Given the description of an element on the screen output the (x, y) to click on. 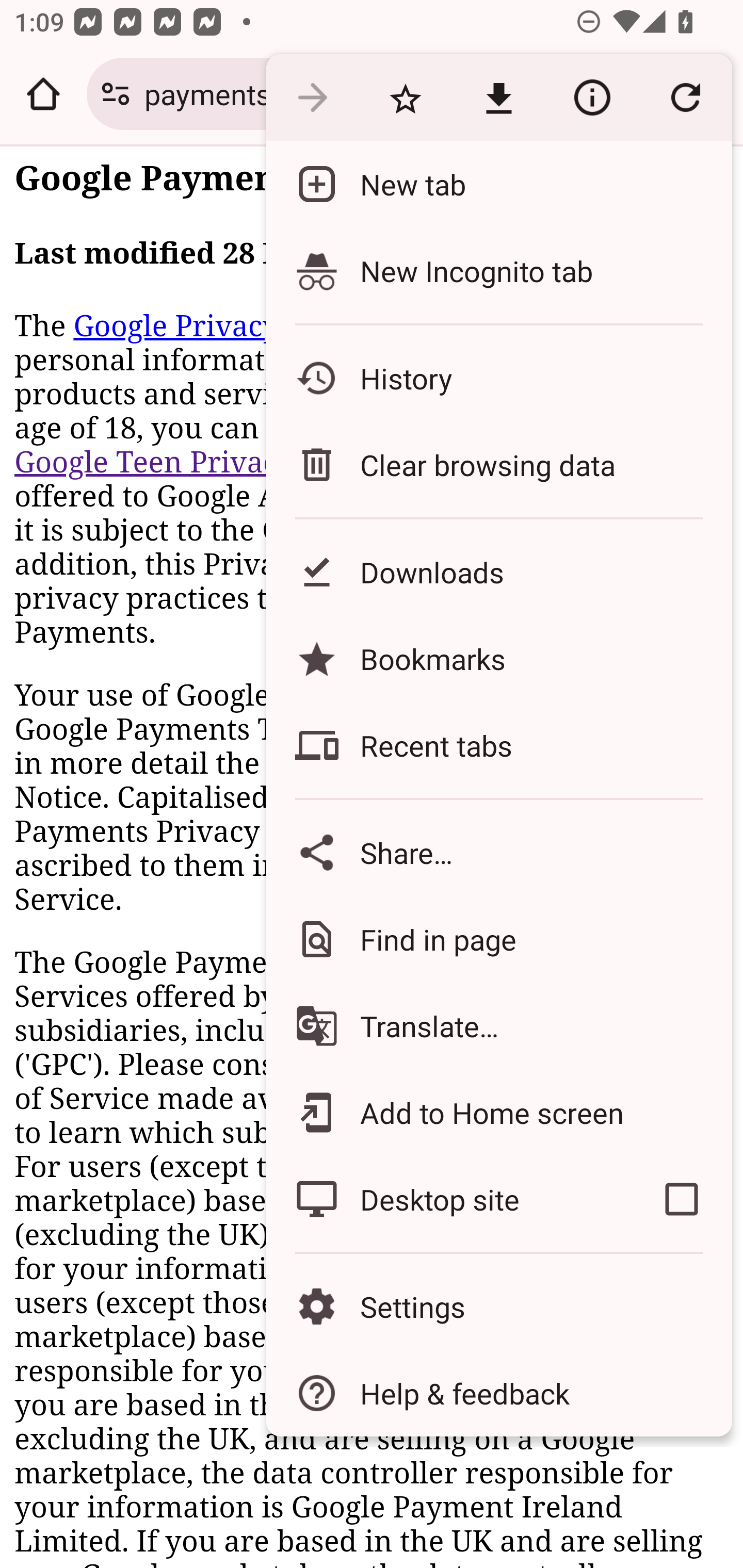
Forward (311, 97)
Bookmark (404, 97)
Download (498, 97)
Page info (591, 97)
Refresh (684, 97)
New tab (498, 184)
New Incognito tab (498, 270)
History (498, 377)
Clear browsing data (498, 464)
Downloads (498, 571)
Bookmarks (498, 658)
Recent tabs (498, 745)
Share… (498, 852)
Find in page (498, 939)
Translate… (498, 1026)
Add to Home screen (498, 1112)
Desktop site Turn on Request desktop site (447, 1198)
Settings (498, 1306)
Help & feedback (498, 1393)
